Given the description of an element on the screen output the (x, y) to click on. 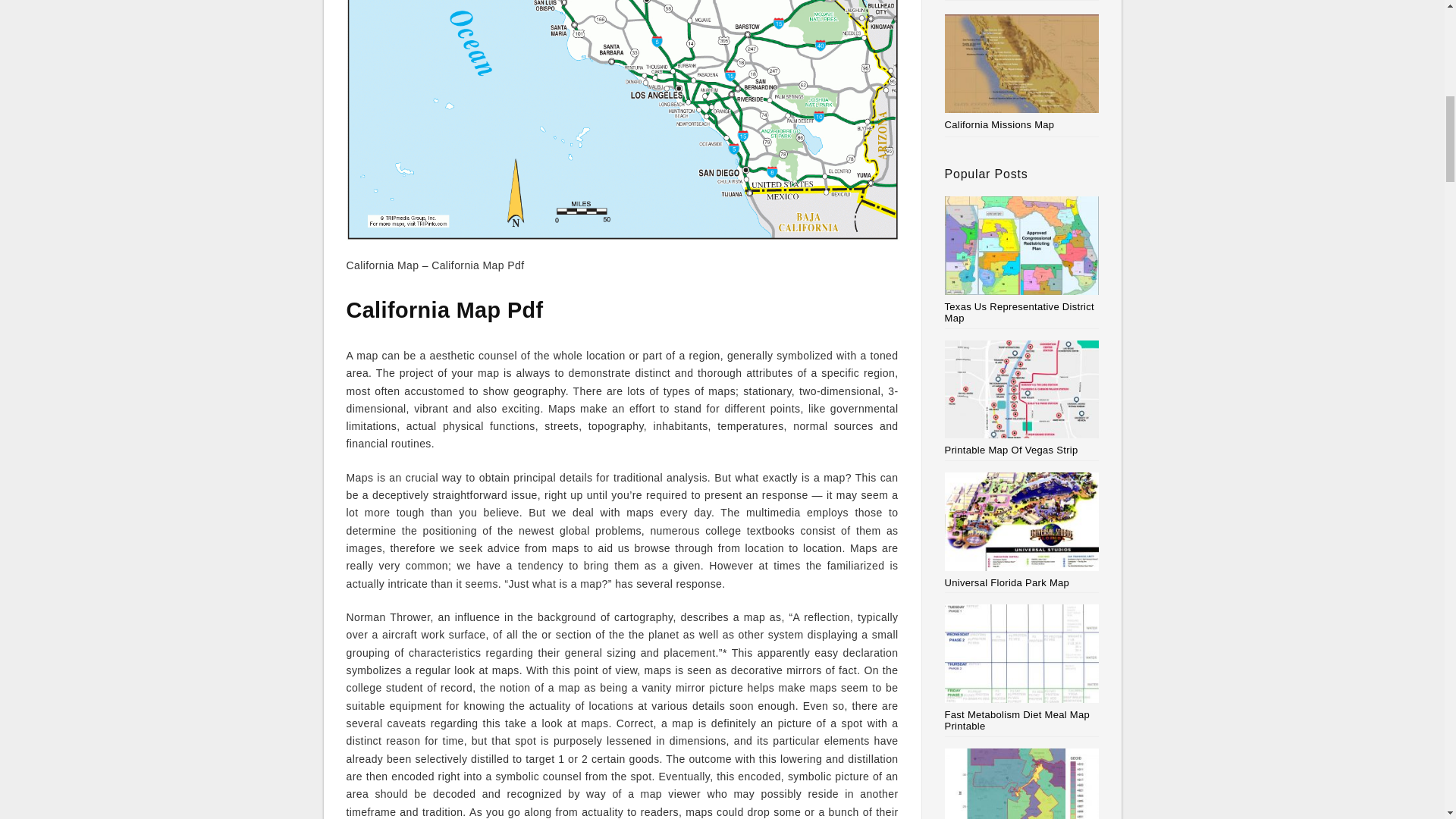
california map california map pdf (622, 120)
